Given the description of an element on the screen output the (x, y) to click on. 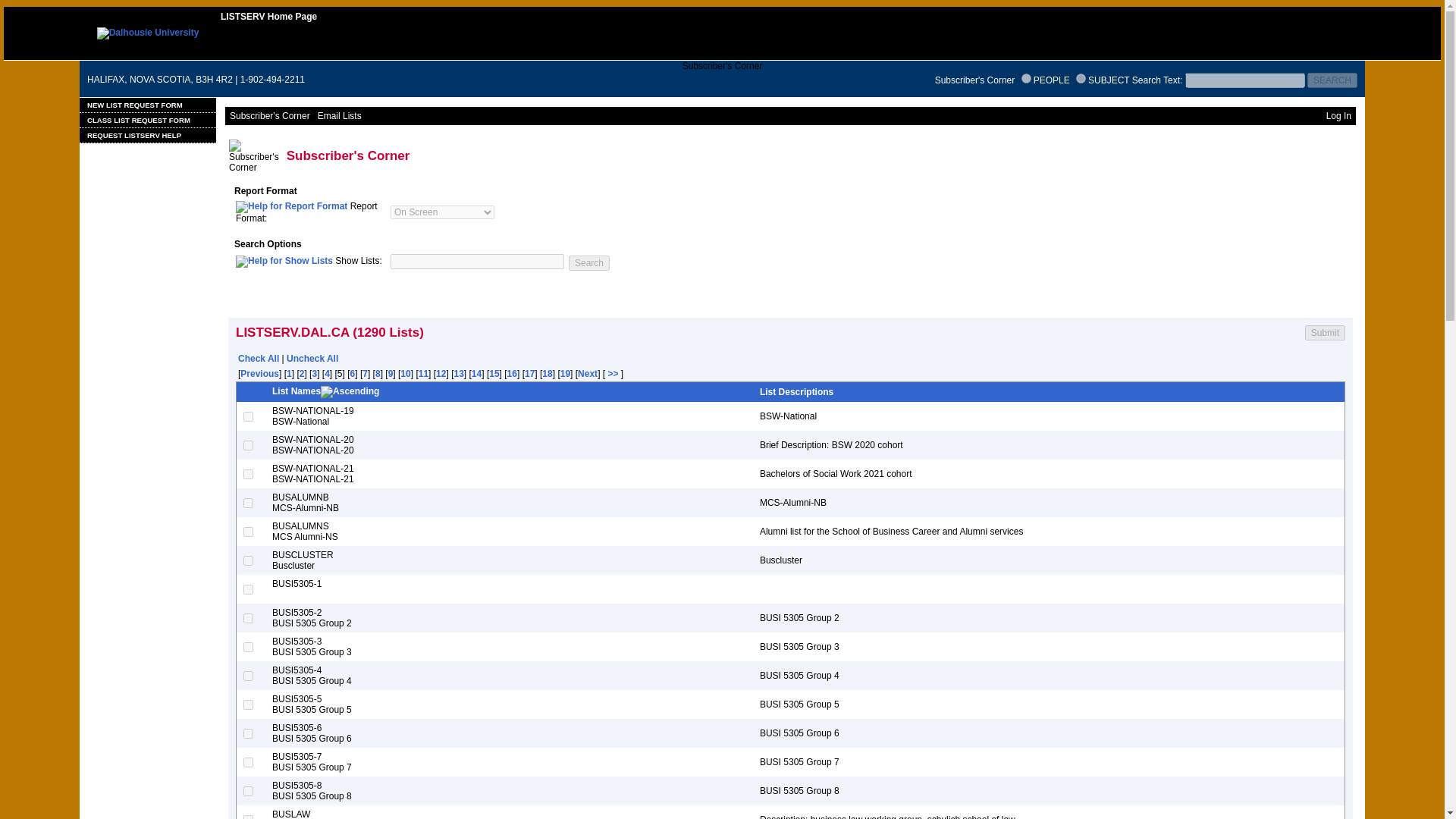
My Settings (367, 305)
BSW-NATIONAL-19 (248, 415)
17 (529, 373)
Help for Report Format (291, 206)
BUSI5305-3 (248, 646)
on (1080, 78)
15 (494, 373)
SEARCH (1331, 79)
on (1026, 78)
BSW-NATIONAL-21 (248, 473)
